Given the description of an element on the screen output the (x, y) to click on. 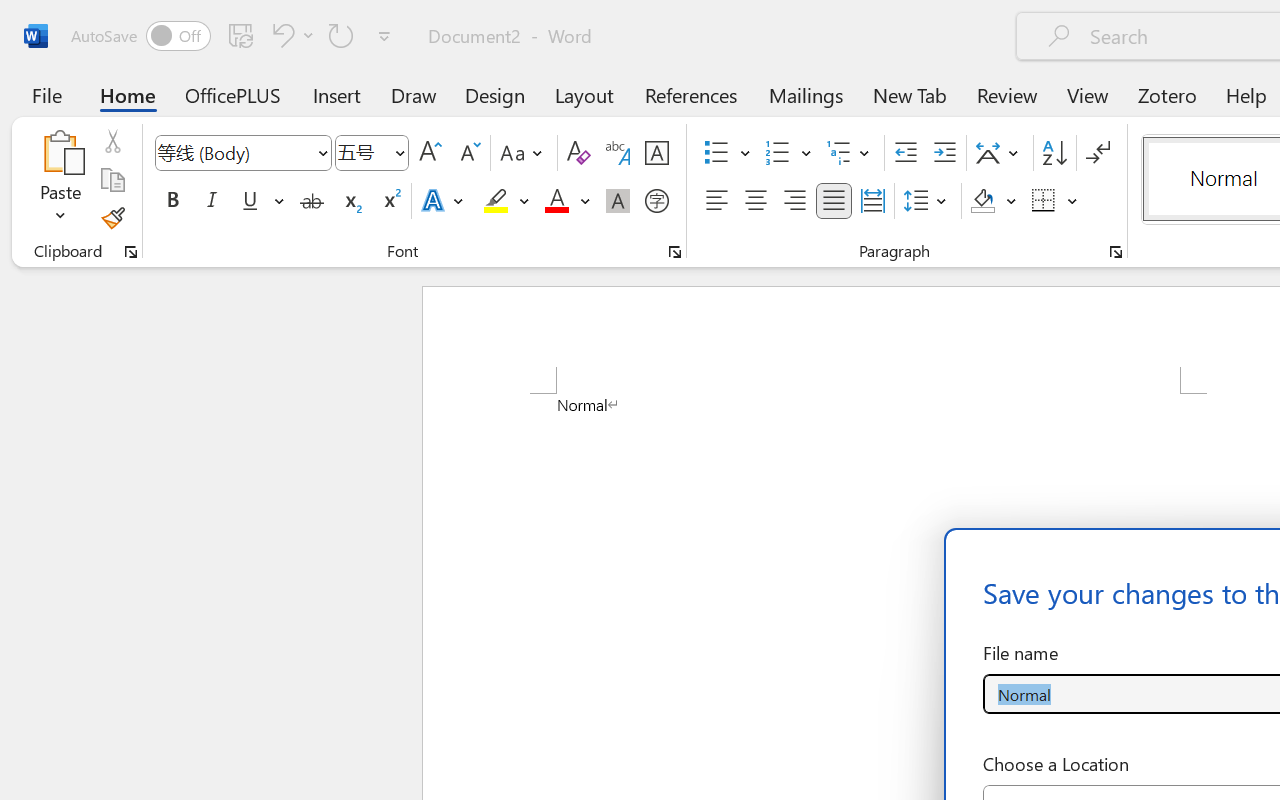
Italic (212, 201)
Align Left (716, 201)
